Given the description of an element on the screen output the (x, y) to click on. 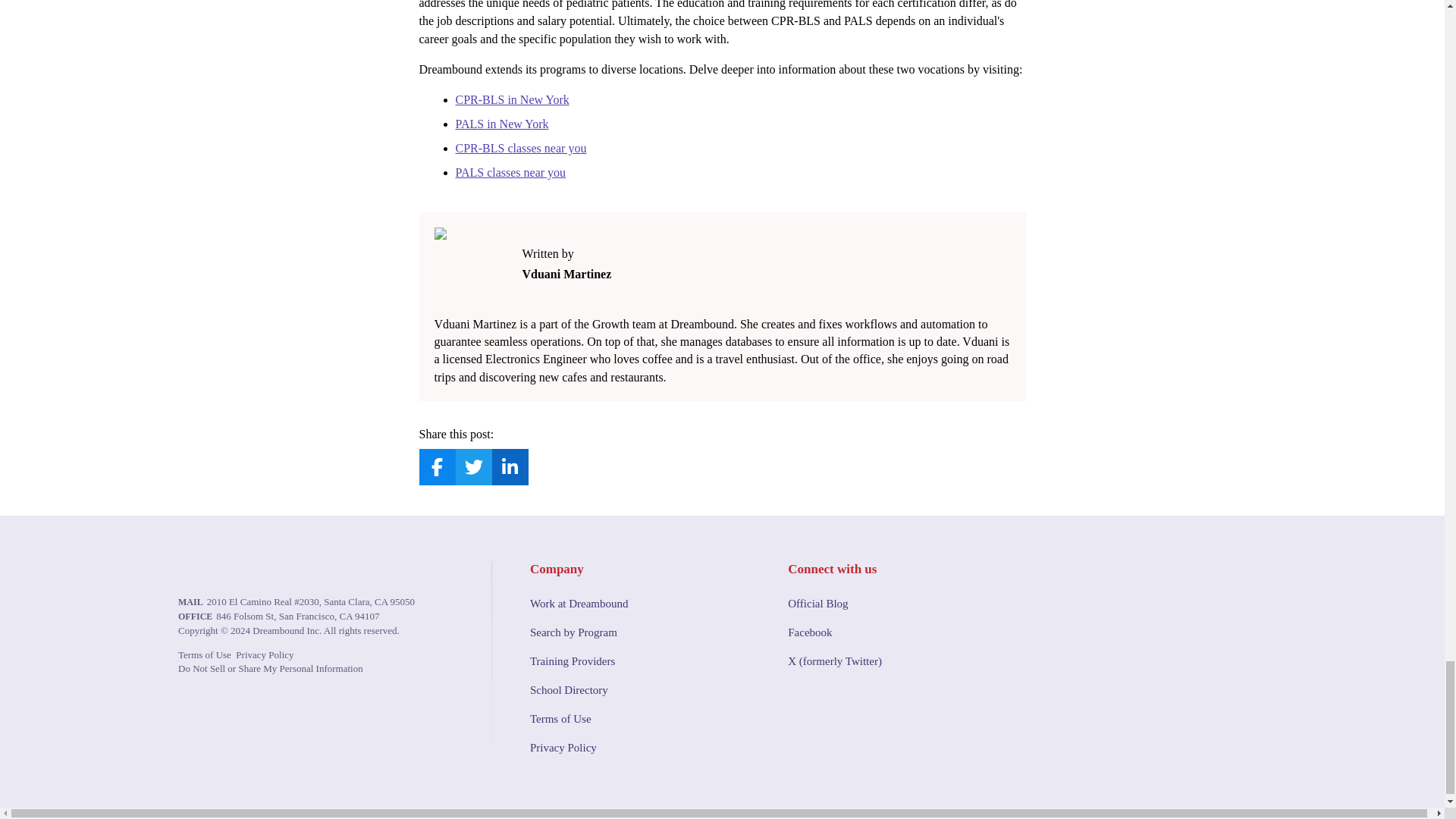
CPR-BLS classes near you (520, 147)
Terms of Use (639, 718)
Work at Dreambound (639, 603)
Privacy Policy (639, 747)
Terms of Use (204, 654)
Tweet (473, 466)
Official Blog (897, 603)
Share on Facebook (436, 466)
CPR-BLS in New York (511, 99)
PALS in New York (501, 123)
